Given the description of an element on the screen output the (x, y) to click on. 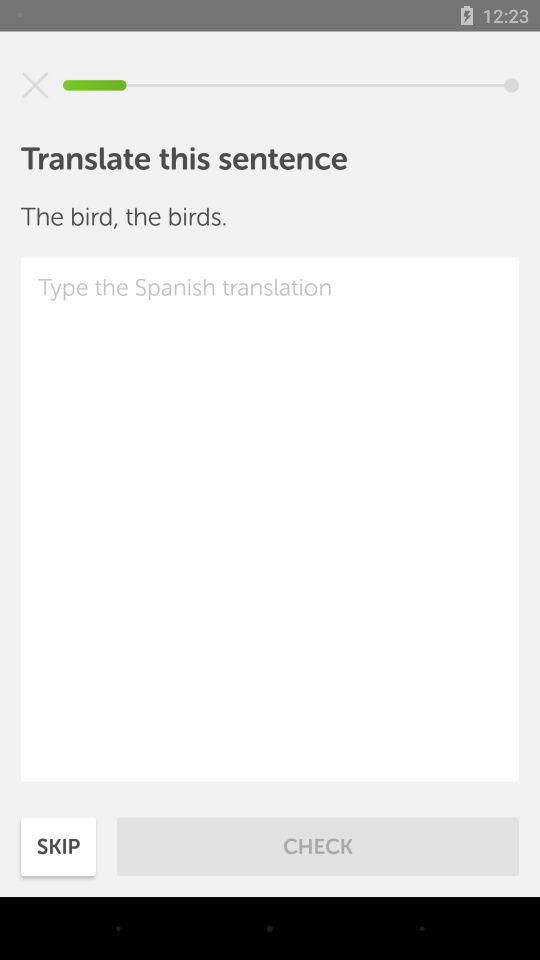
type in words for translation (270, 519)
